Given the description of an element on the screen output the (x, y) to click on. 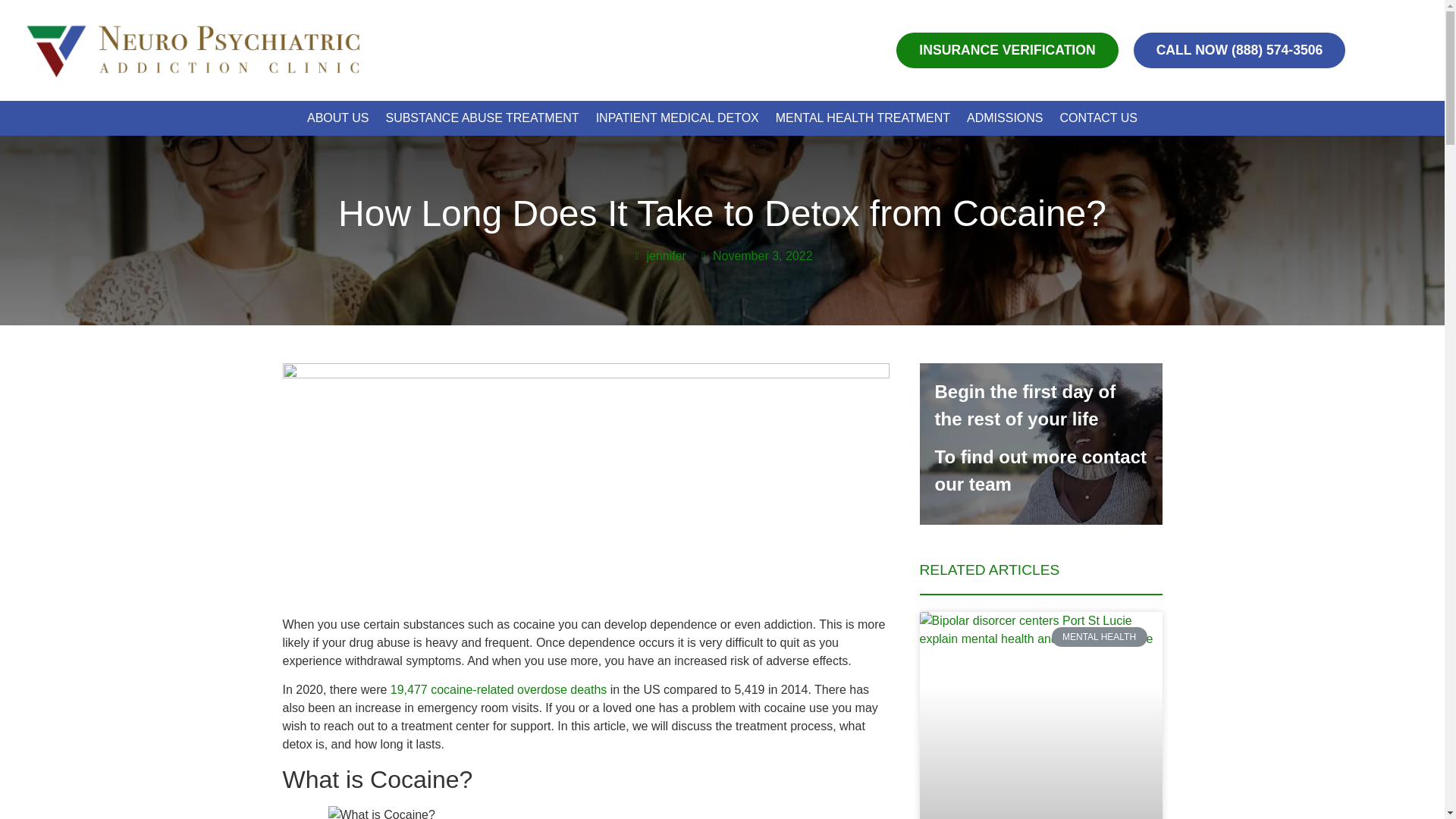
INSURANCE VERIFICATION (1007, 50)
SUBSTANCE ABUSE TREATMENT (481, 117)
ABOUT US (338, 117)
MENTAL HEALTH TREATMENT (863, 117)
INPATIENT MEDICAL DETOX (677, 117)
